Given the description of an element on the screen output the (x, y) to click on. 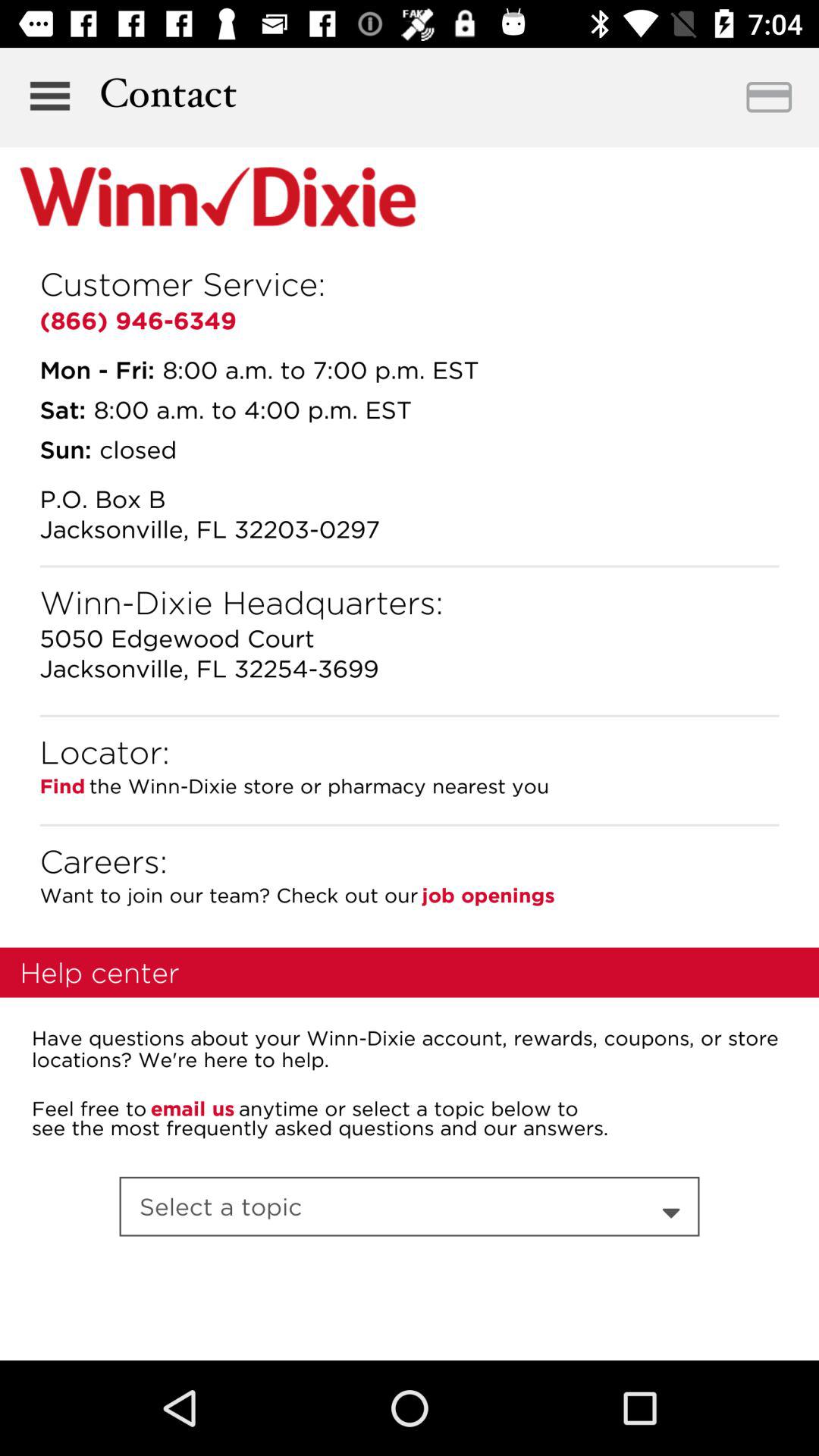
click help center item (99, 972)
